Given the description of an element on the screen output the (x, y) to click on. 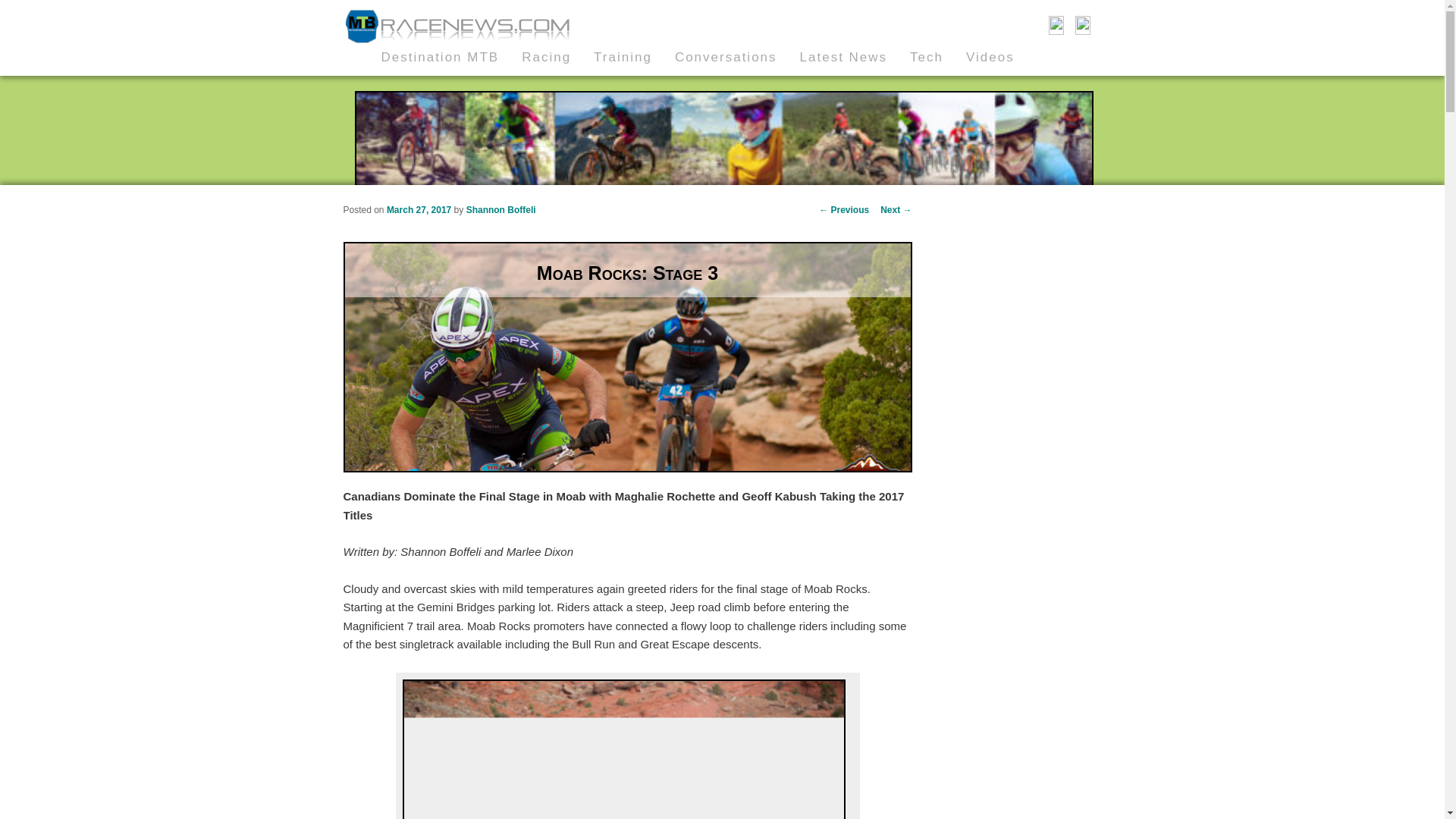
Racing (557, 56)
Training (634, 56)
Conversations (737, 56)
Videos (1001, 56)
Destination MTB (450, 56)
View all posts by Shannon Boffeli (500, 209)
Tech (938, 56)
Latest News (855, 56)
